Given the description of an element on the screen output the (x, y) to click on. 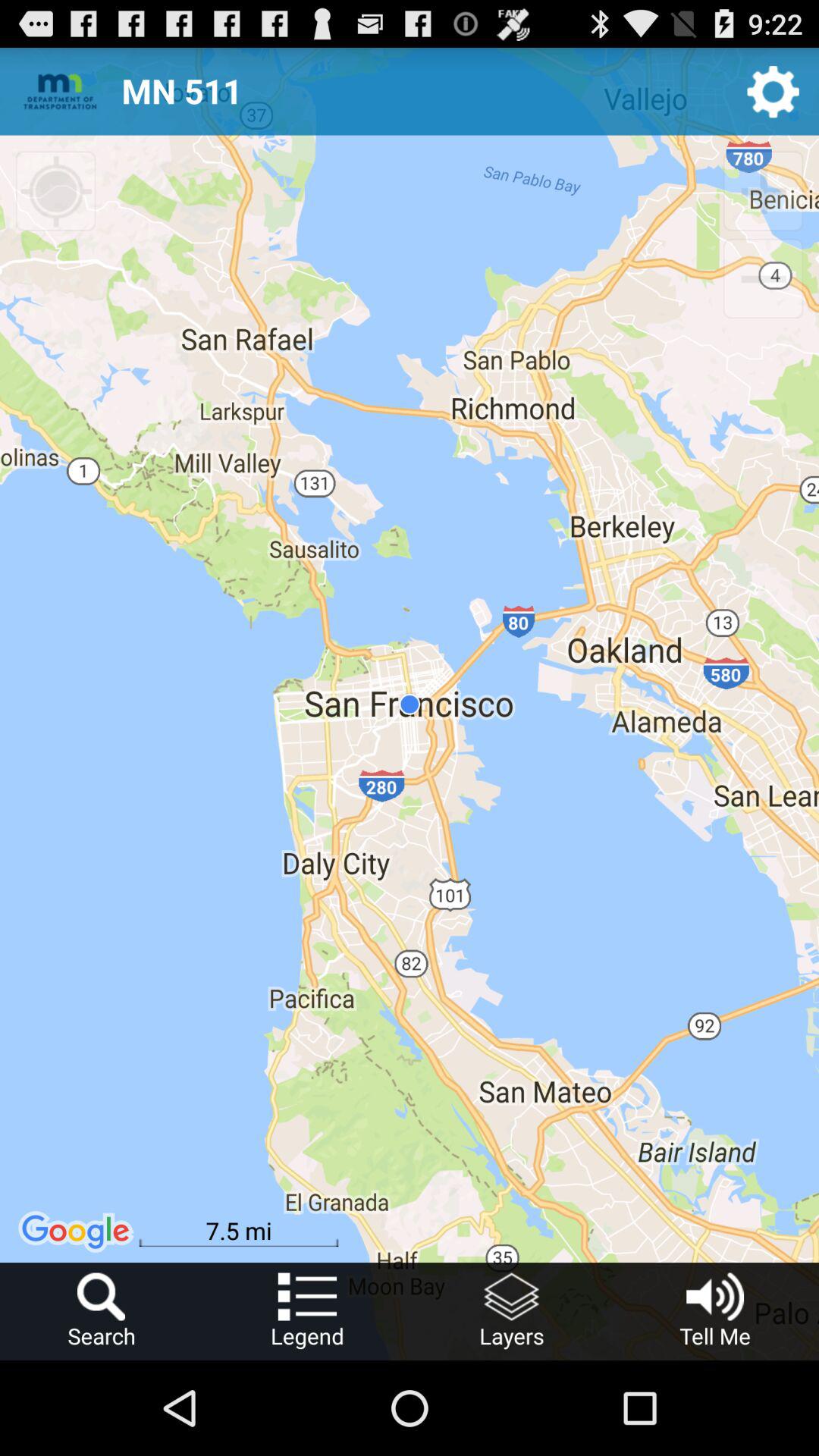
setting (773, 91)
